Given the description of an element on the screen output the (x, y) to click on. 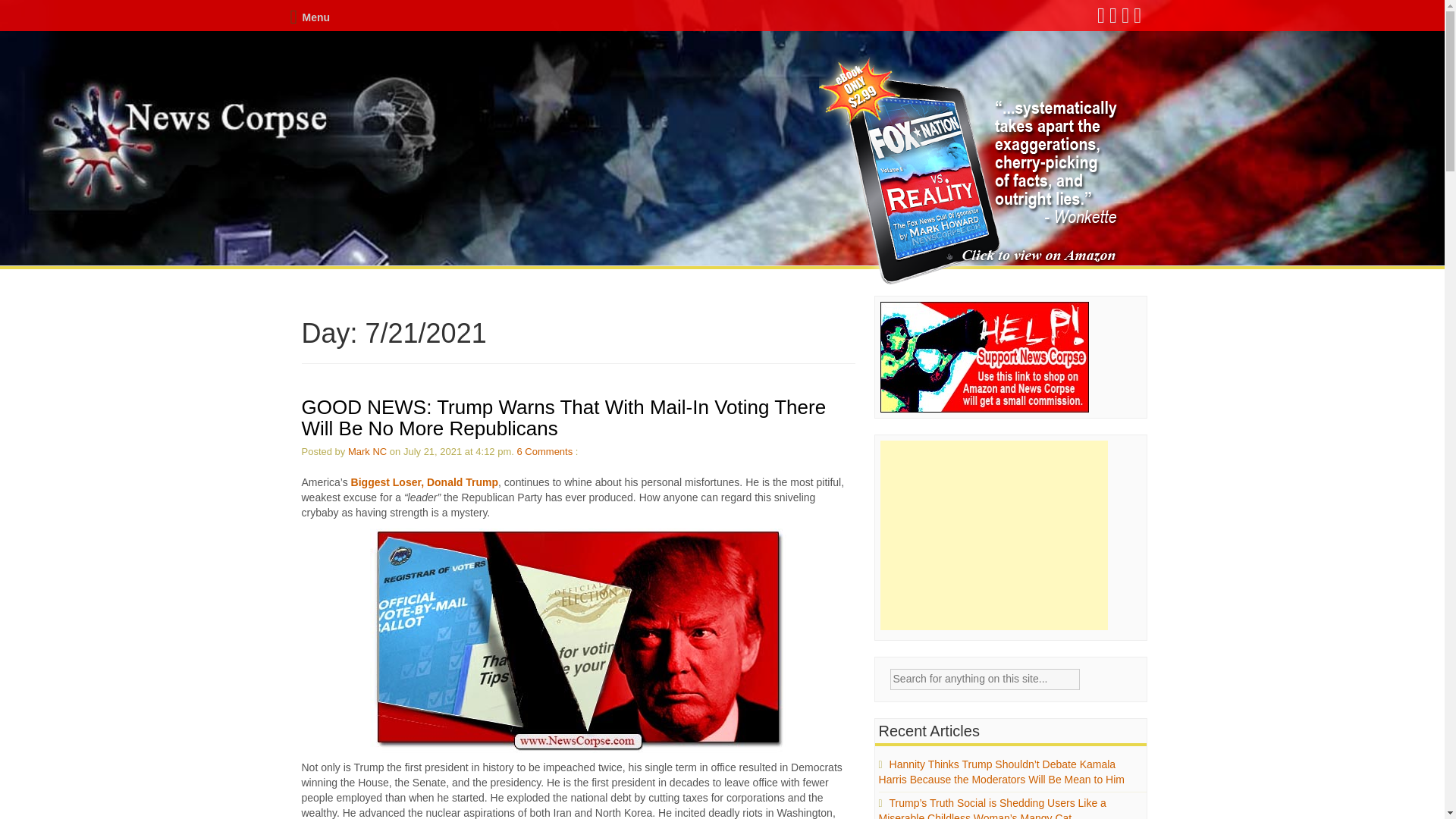
Menu (309, 17)
Comments (548, 451)
Fox Nation vs. Reality (971, 170)
Biggest Loser, Donald Trump (423, 481)
Posts by Mark NC (367, 451)
Advertisement (994, 534)
Mark NC (367, 451)
